Given the description of an element on the screen output the (x, y) to click on. 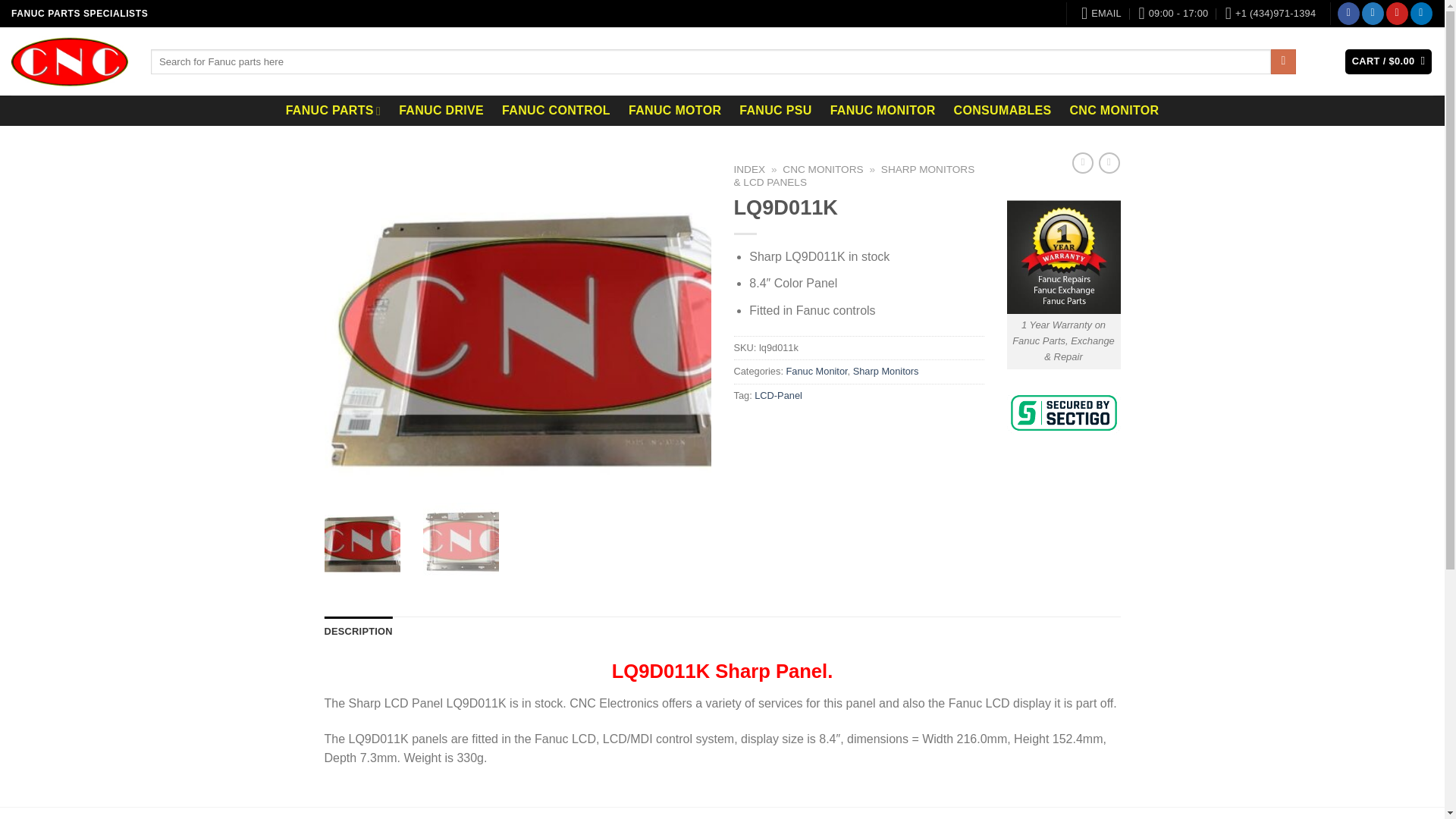
Sharp Monitors (885, 370)
Fanuc Monitor (816, 370)
FANUC PSU (775, 110)
FANUC CONTROL (556, 110)
FANUC PARTS (333, 110)
Follow on LinkedIn (1421, 13)
Fanuc parts (333, 110)
FANUC MONITOR (882, 110)
EMAIL (1101, 13)
Follow on Pinterest (1396, 13)
LCD-Panel (778, 395)
CNC MONITOR (1113, 110)
Follow on Twitter (1372, 13)
FANUC DRIVE (441, 110)
CNC - Fanuc parts specialists (69, 61)
